Given the description of an element on the screen output the (x, y) to click on. 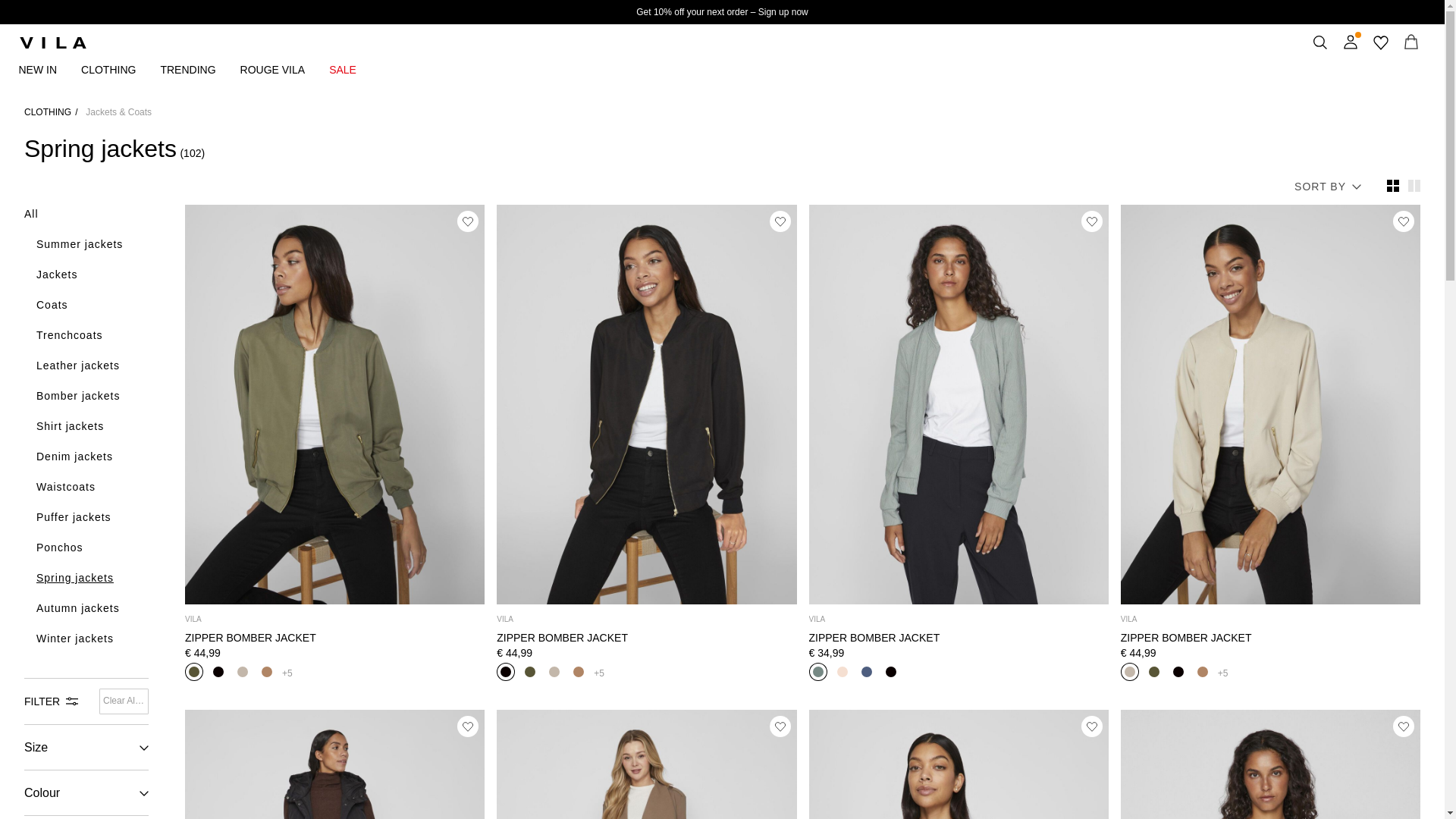
Wishlist (1379, 42)
CLOTHING (120, 69)
SALE (354, 69)
TRENDING (200, 69)
Return to Home Page (51, 42)
ROUGE VILA (285, 69)
Search (1319, 42)
Bag (1409, 42)
NEW IN (49, 69)
Log in (1350, 42)
